Given the description of an element on the screen output the (x, y) to click on. 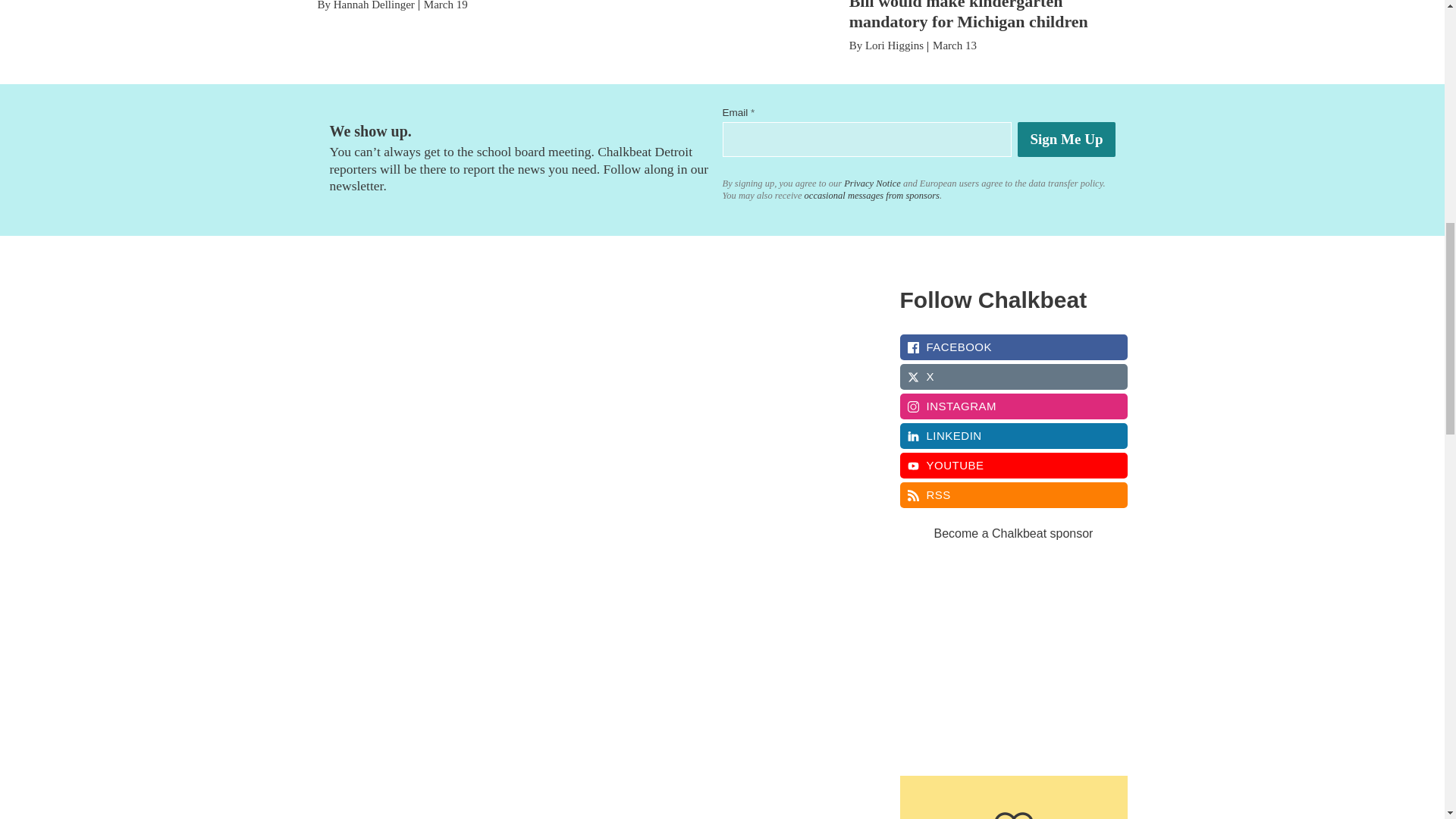
Sign Me Up (1066, 139)
occasional messages from sponsors (870, 195)
X (1012, 376)
Bill would make kindergarten mandatory for Michigan children (967, 15)
FACEBOOK (1012, 347)
Lori Higgins (893, 45)
Bill would make kindergarten mandatory for Michigan children (967, 15)
Hannah Dellinger (373, 5)
Privacy Notice (871, 183)
